Given the description of an element on the screen output the (x, y) to click on. 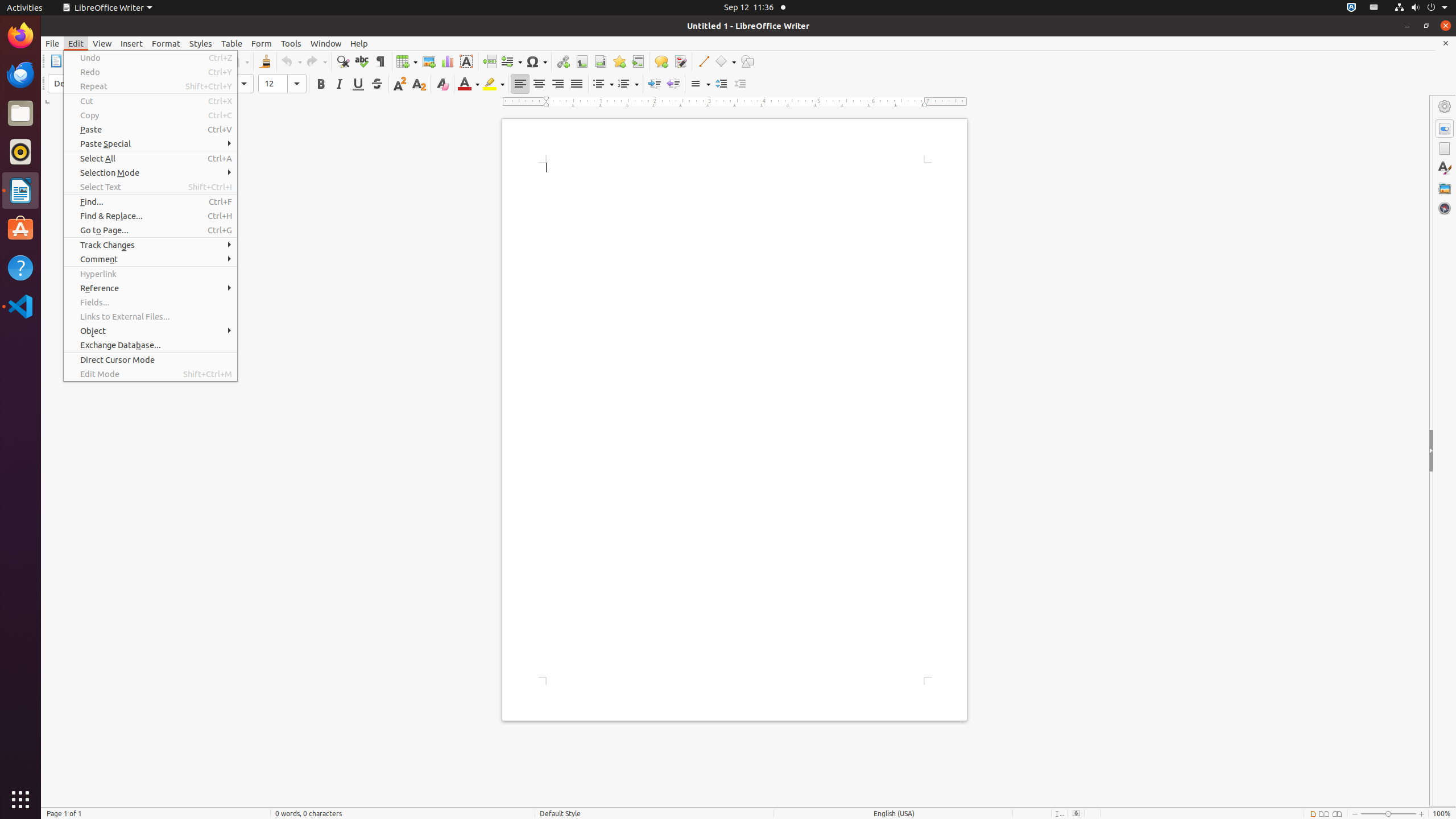
Chart Element type: push-button (446, 61)
Line Spacing Element type: push-button (699, 83)
Page Break Element type: push-button (489, 61)
LibreOffice Writer Element type: push-button (20, 190)
Underline Element type: push-button (357, 83)
